Given the description of an element on the screen output the (x, y) to click on. 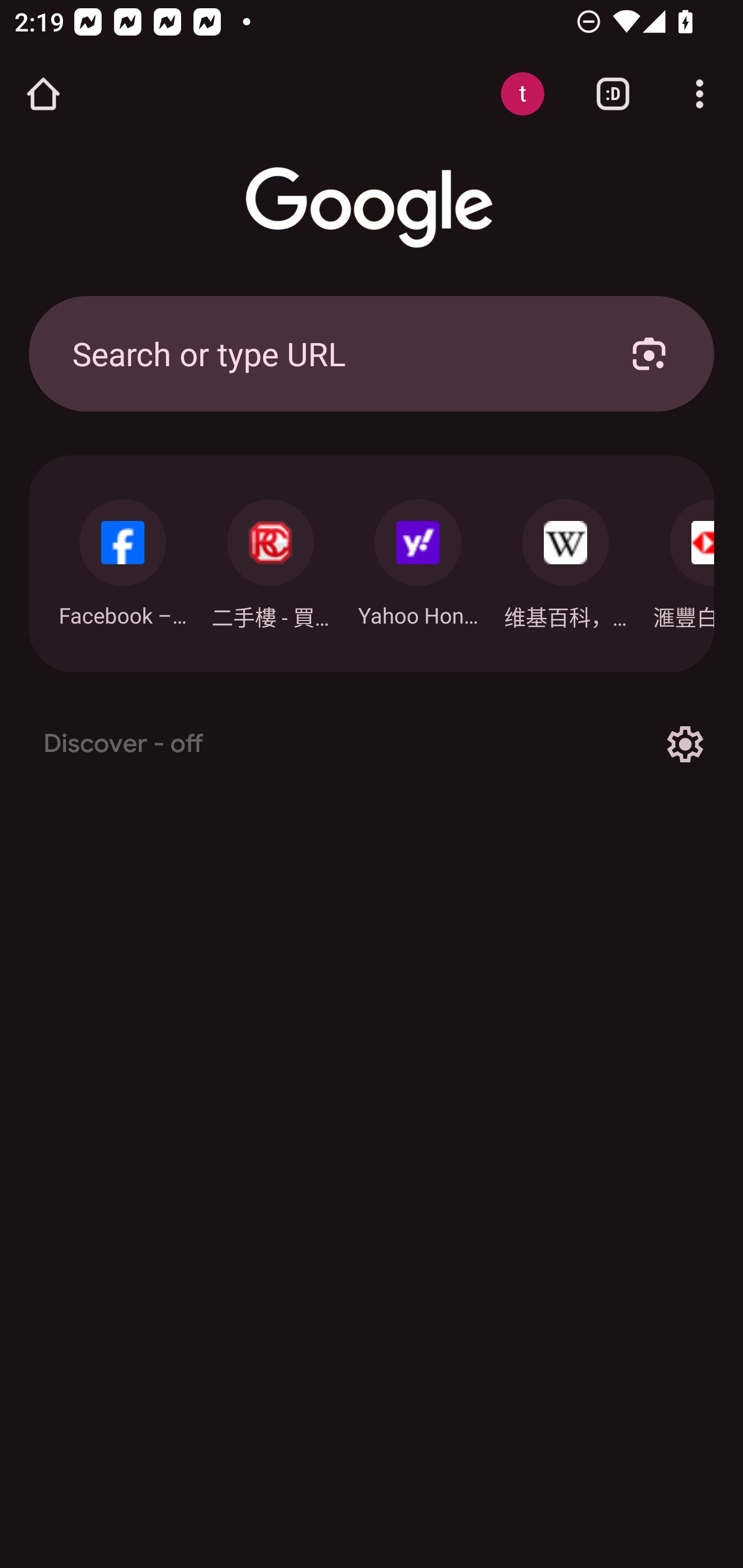
Open the home page (43, 93)
Switch or close tabs (612, 93)
Customize and control Google Chrome (699, 93)
Search or type URL (327, 353)
Search with your camera using Google Lens (648, 353)
Options for Discover (684, 743)
